Given the description of an element on the screen output the (x, y) to click on. 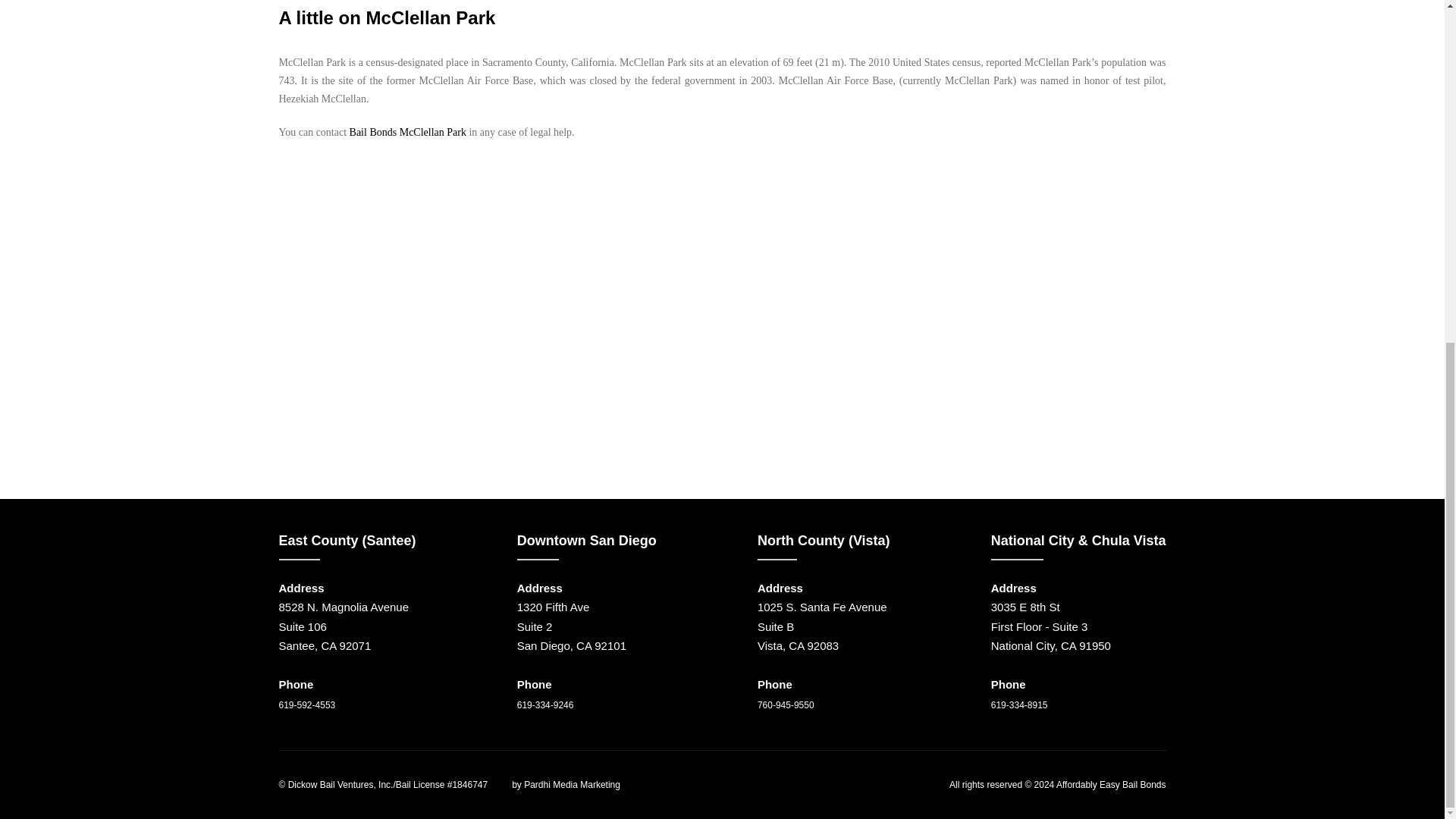
SEO (498, 784)
760-945-9550 (785, 705)
619-334-8915 (1019, 705)
619-334-9246 (544, 705)
Bail Bonds McClellan Park (407, 132)
619-592-4553 (307, 705)
